Given the description of an element on the screen output the (x, y) to click on. 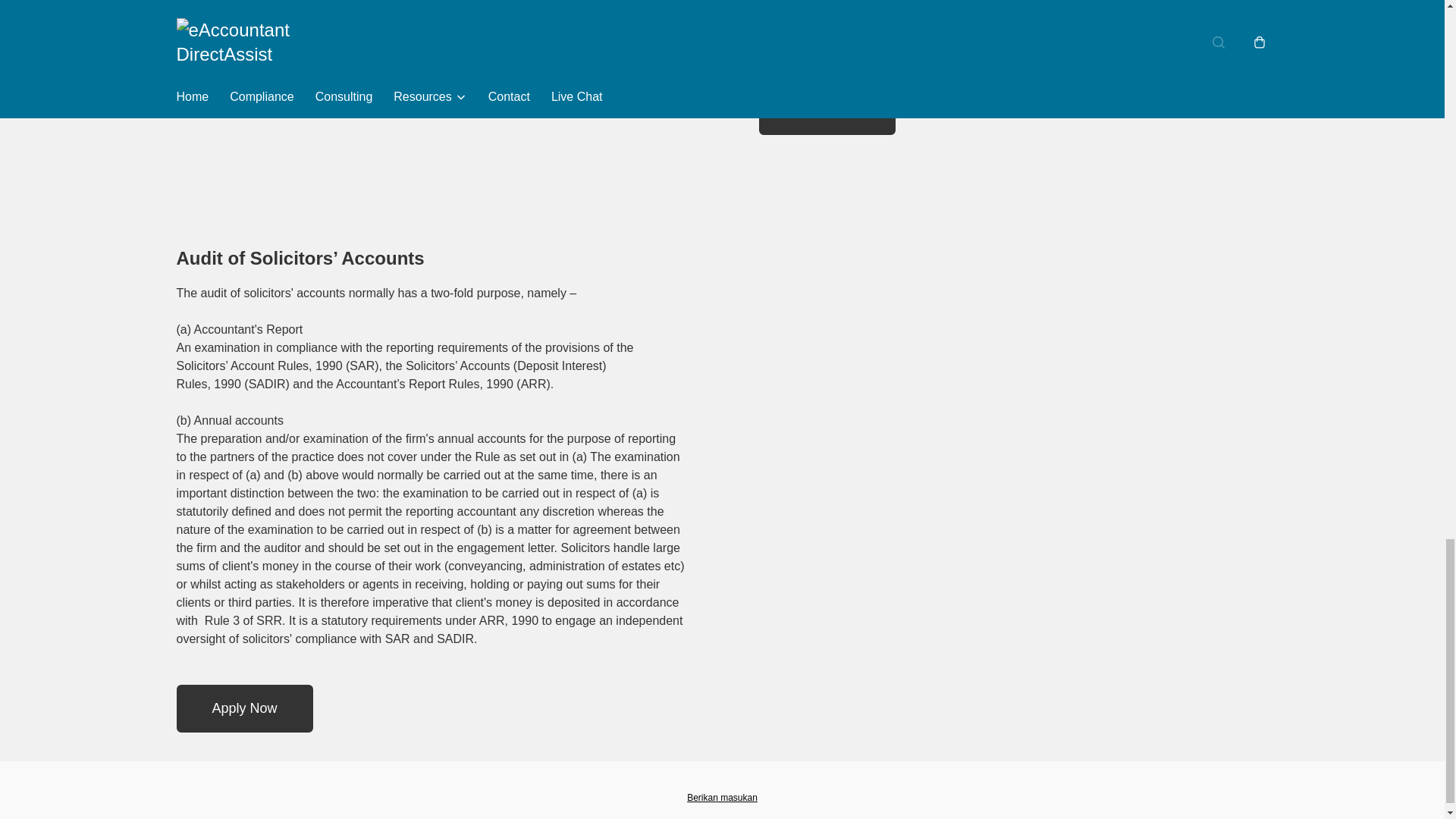
Apply Now (244, 707)
Apply Now (826, 110)
Berikan masukan (722, 797)
